Given the description of an element on the screen output the (x, y) to click on. 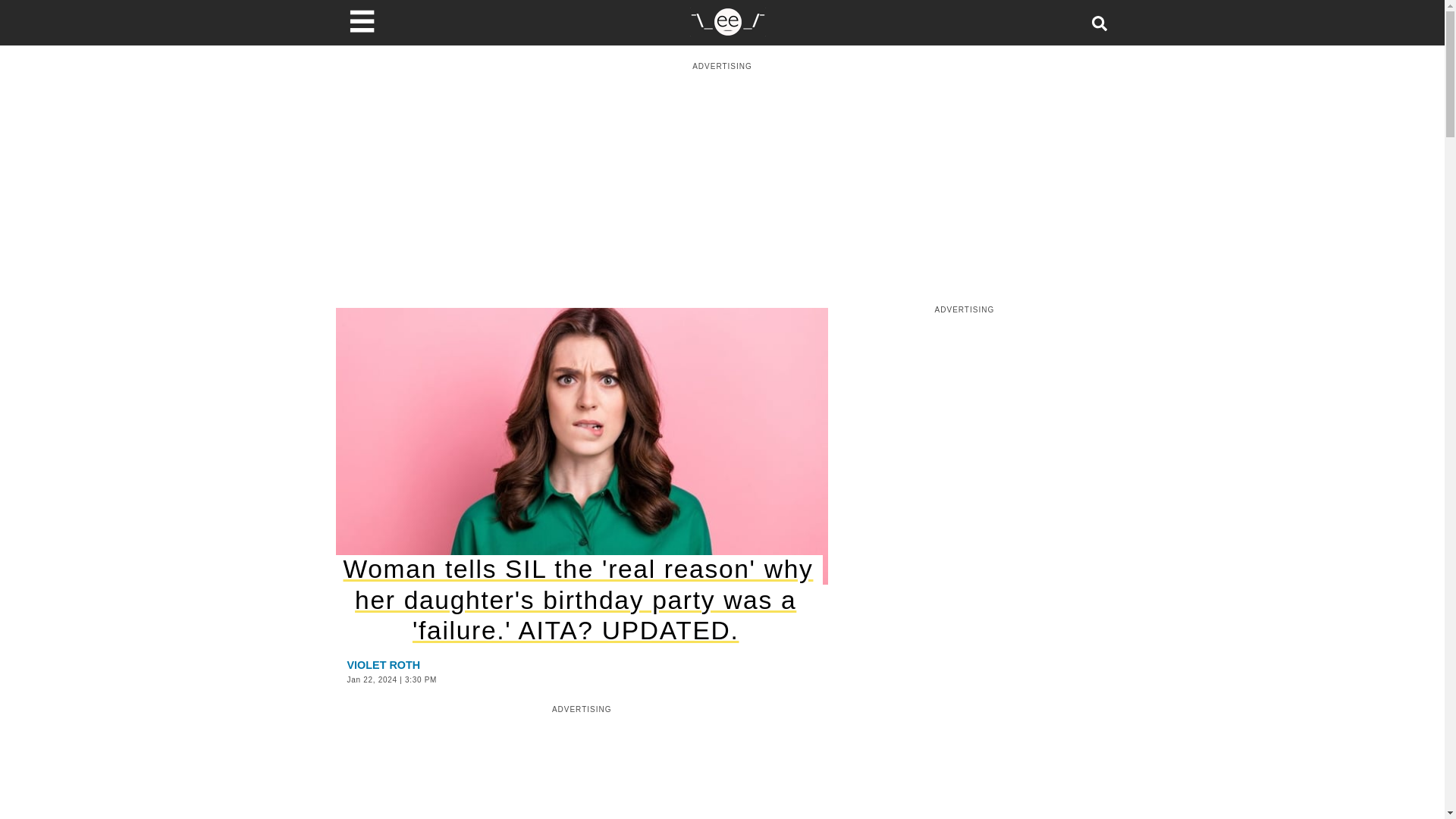
VIOLET ROTH (383, 664)
